Given the description of an element on the screen output the (x, y) to click on. 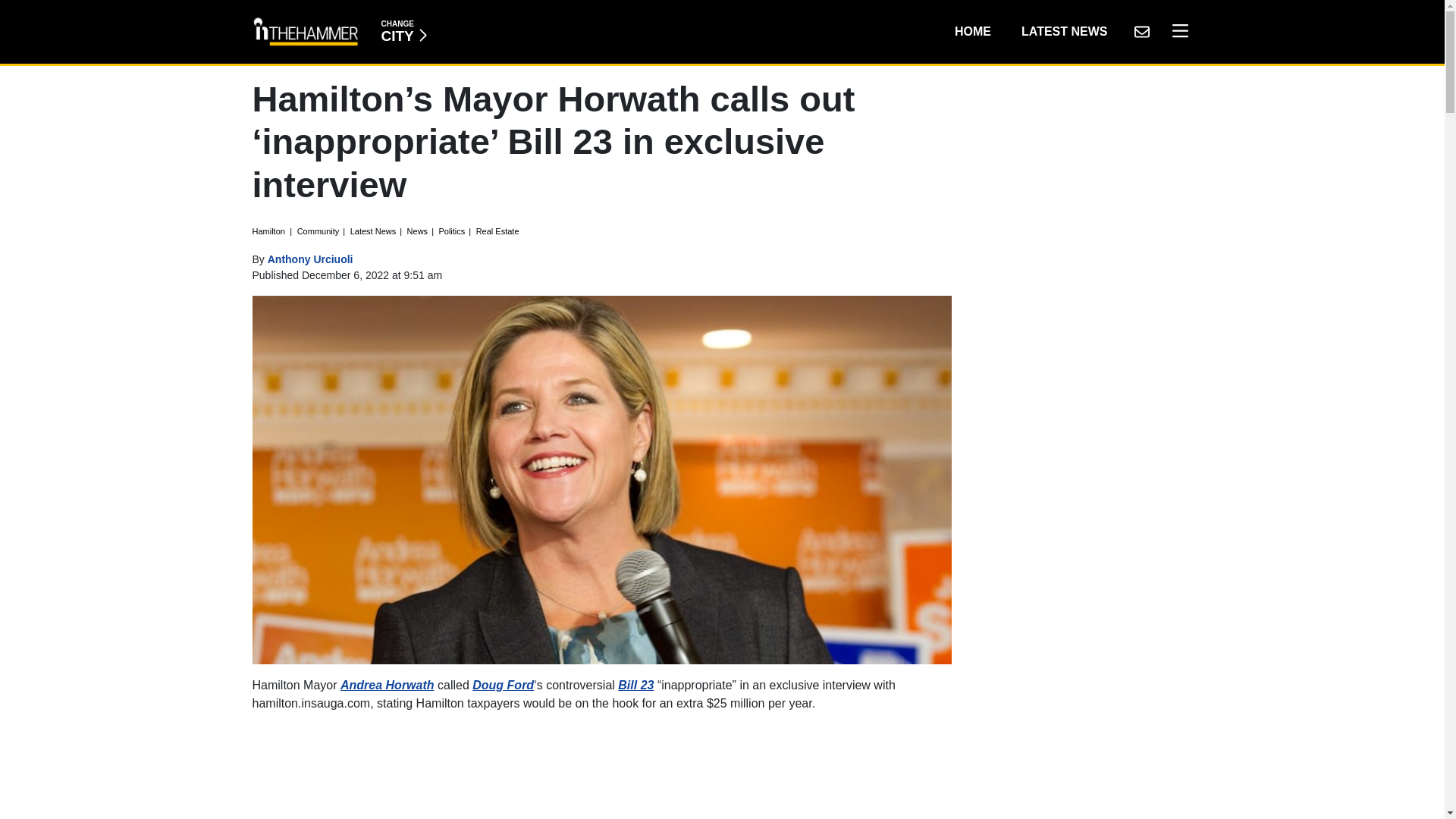
LATEST NEWS (1064, 31)
SIGN UP FOR OUR NEWSLETTER (1141, 31)
HOME (972, 31)
OPEN MENU (402, 31)
Posts by 819 (1176, 31)
